Given the description of an element on the screen output the (x, y) to click on. 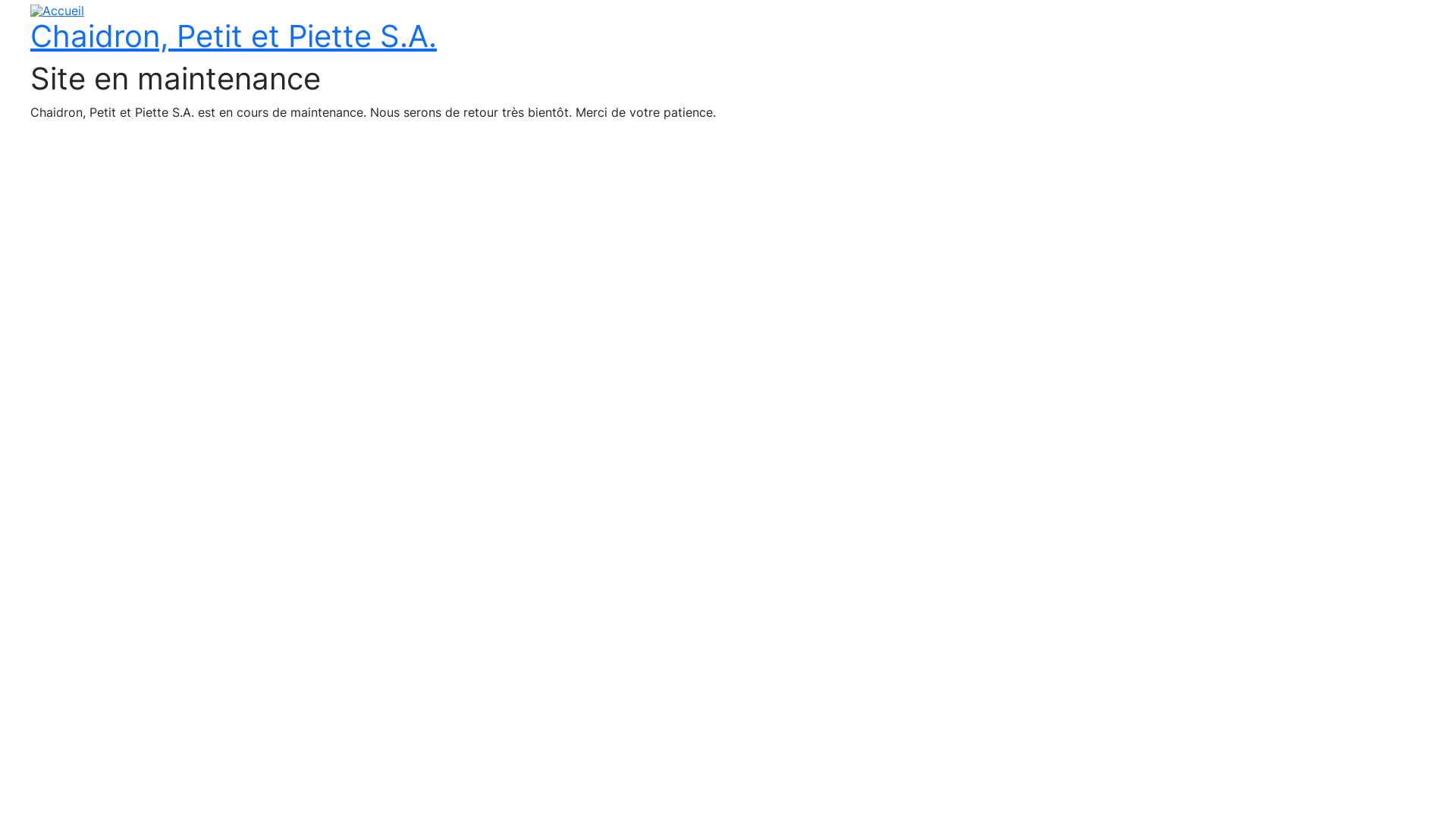
Accueil Element type: hover (57, 8)
Chaidron, Petit et Piette S.A. Element type: text (233, 35)
